Given the description of an element on the screen output the (x, y) to click on. 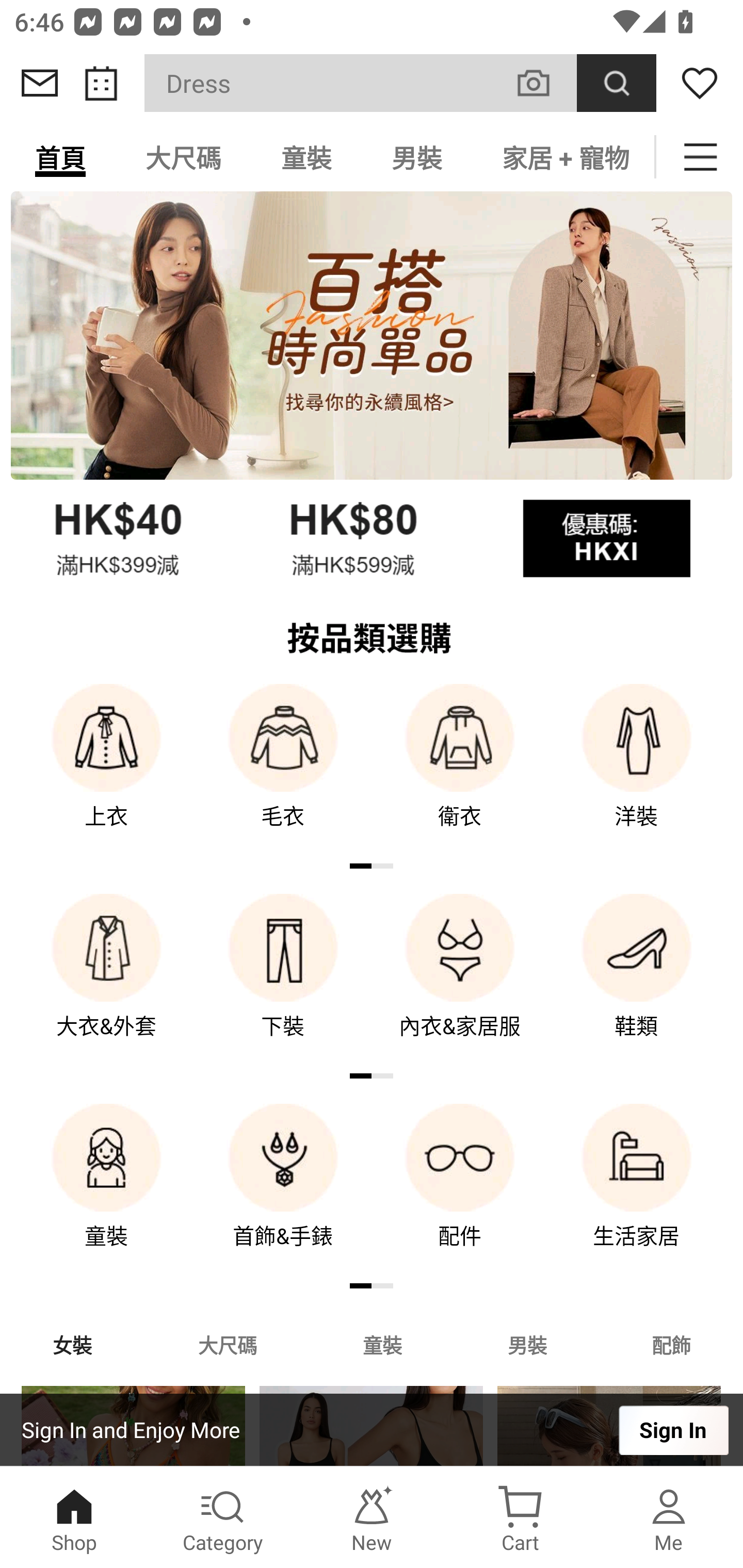
Wishlist (699, 82)
VISUAL SEARCH (543, 82)
首頁 (60, 156)
大尺碼 (183, 156)
童裝 (306, 156)
男裝 (416, 156)
家居 + 寵物 (563, 156)
上衣 (105, 769)
毛衣 (282, 769)
衛衣 (459, 769)
洋裝 (636, 769)
大衣&外套 (105, 979)
下裝 (282, 979)
內衣&家居服 (459, 979)
鞋類 (636, 979)
童裝 (105, 1189)
首飾&手錶 (282, 1189)
配件 (459, 1189)
生活家居 (636, 1189)
女裝 (72, 1344)
大尺碼 (226, 1344)
童裝 (381, 1344)
男裝 (527, 1344)
配飾 (671, 1344)
Sign In and Enjoy More Sign In (371, 1429)
Category (222, 1517)
New (371, 1517)
Cart (519, 1517)
Me (668, 1517)
